Given the description of an element on the screen output the (x, y) to click on. 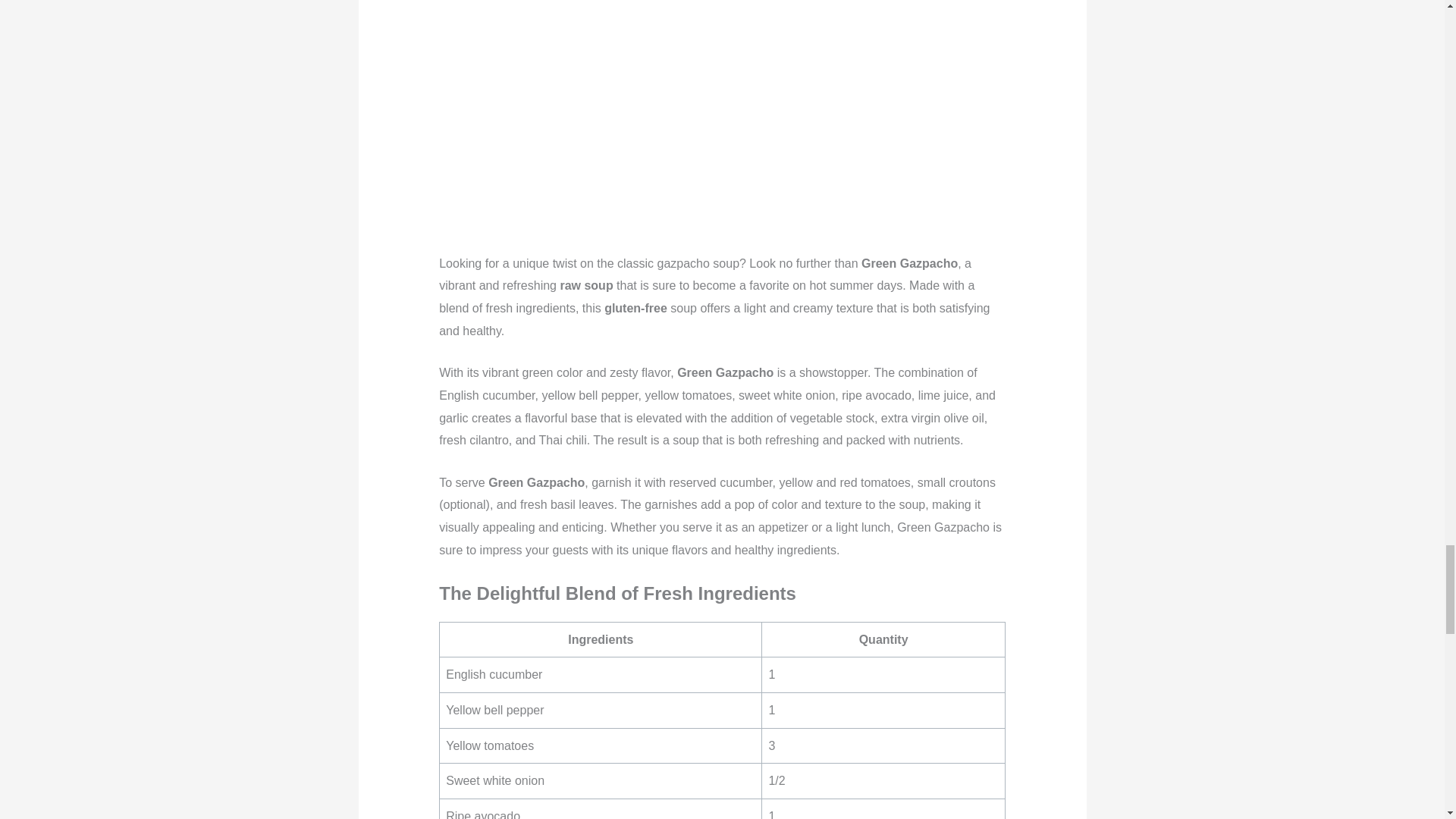
Green Gazpacho (722, 116)
